Given the description of an element on the screen output the (x, y) to click on. 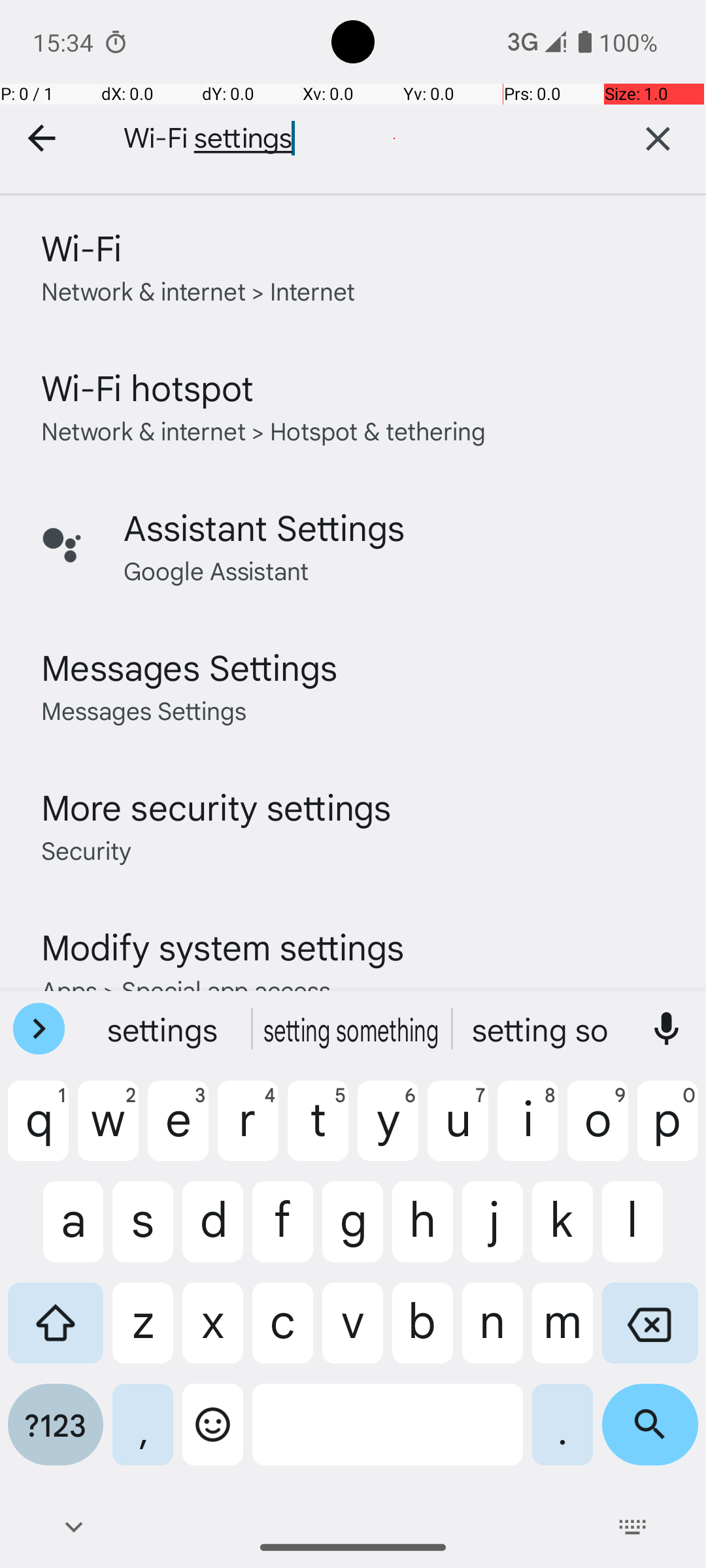
Wi-Fi settings Element type: android.widget.EditText (345, 138)
Clear text Element type: android.widget.ImageButton (657, 138)
Wi-Fi Element type: android.widget.TextView (81, 246)
Network & internet > Internet Element type: android.widget.TextView (198, 289)
Wi-Fi hotspot Element type: android.widget.TextView (147, 386)
Network & internet > Hotspot & tethering Element type: android.widget.TextView (263, 429)
Assistant Settings Element type: android.widget.TextView (263, 526)
Google Assistant Element type: android.widget.TextView (215, 569)
Messages Settings Element type: android.widget.TextView (189, 666)
More security settings Element type: android.widget.TextView (216, 806)
Security Element type: android.widget.TextView (86, 848)
Modify system settings Element type: android.widget.TextView (222, 945)
Apps > Special app access Element type: android.widget.TextView (185, 988)
settings Element type: android.widget.FrameLayout (163, 1028)
setting something Element type: android.widget.FrameLayout (352, 1028)
setting so Element type: android.widget.FrameLayout (541, 1028)
